Given the description of an element on the screen output the (x, y) to click on. 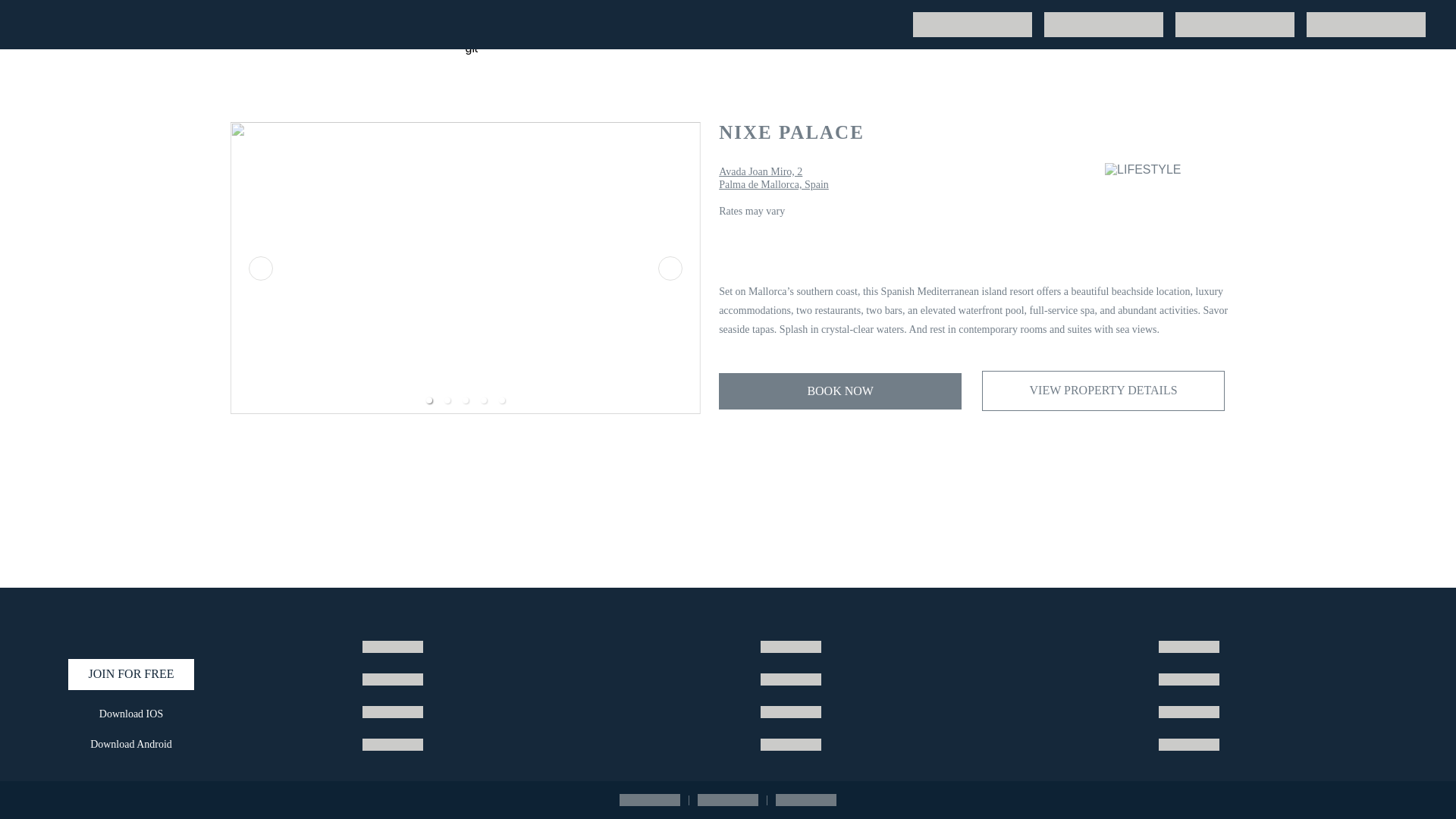
JOIN FOR FREE (130, 674)
SEARCH (953, 22)
VIEW PROPERTY DETAILS (1102, 391)
VIEW PROPERTY DETAILS (1103, 391)
Download Android (130, 744)
Download IOS (130, 714)
BOOK NOW (839, 391)
